Given the description of an element on the screen output the (x, y) to click on. 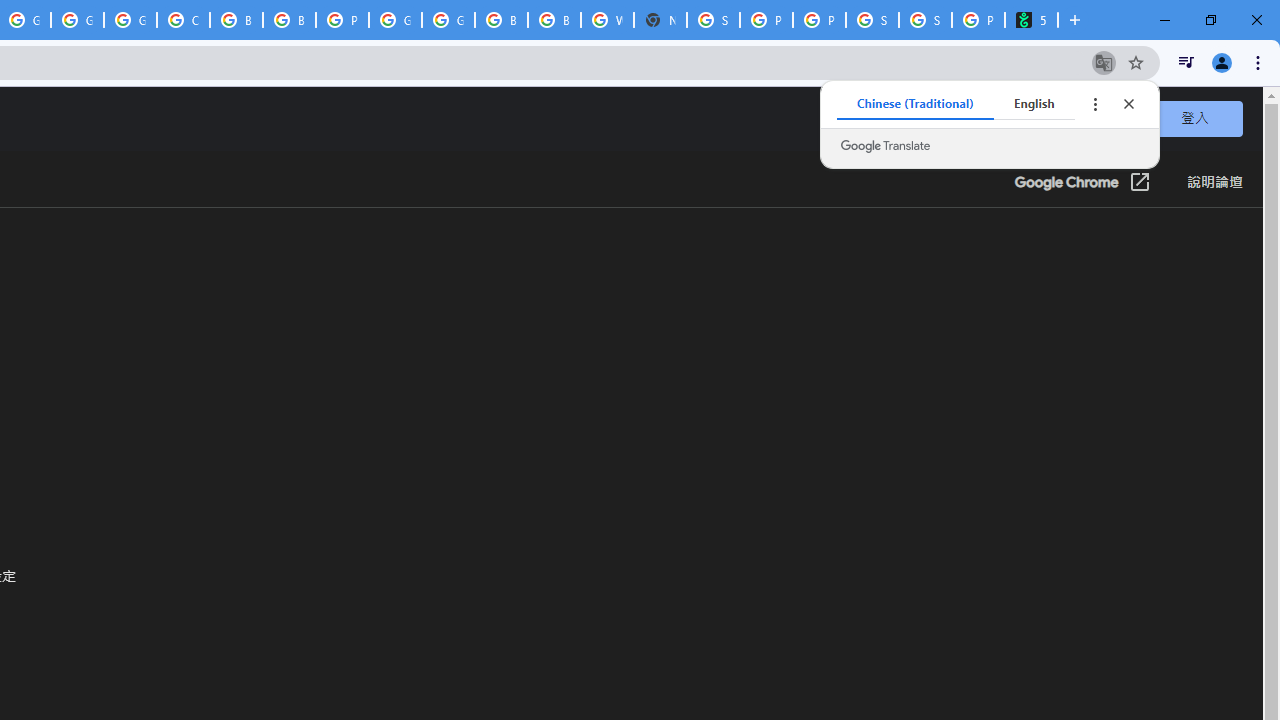
Browse Chrome as a guest - Computer - Google Chrome Help (235, 20)
Browse Chrome as a guest - Computer - Google Chrome Help (554, 20)
New Tab (660, 20)
Sign in - Google Accounts (713, 20)
Browse Chrome as a guest - Computer - Google Chrome Help (501, 20)
Translate options (1094, 103)
